Given the description of an element on the screen output the (x, y) to click on. 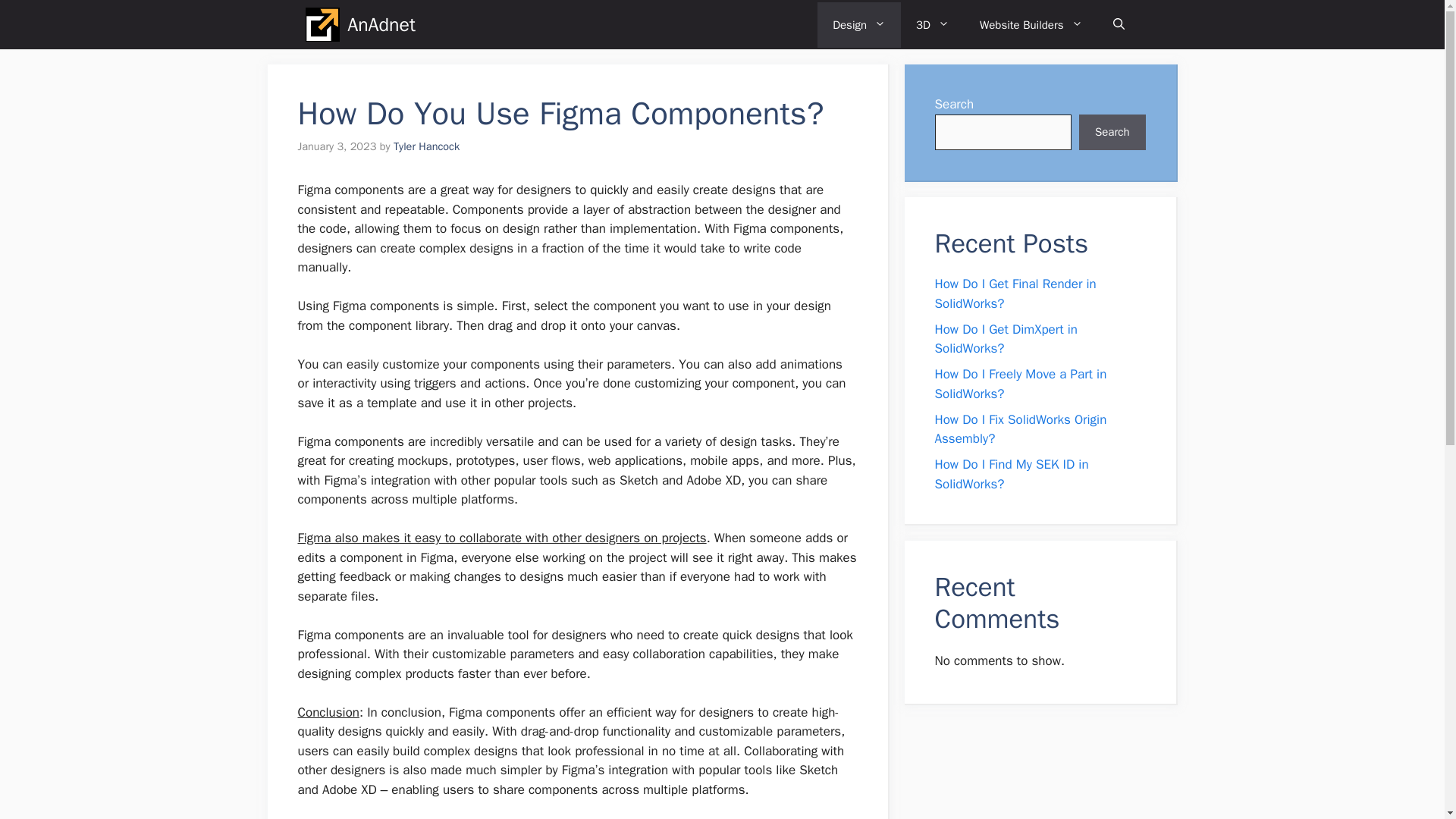
How Do I Freely Move a Part in SolidWorks? (1020, 384)
How Do I Get DimXpert in SolidWorks? (1005, 339)
Tyler Hancock (426, 146)
How Do I Get Final Render in SolidWorks? (1015, 294)
How Do I Fix SolidWorks Origin Assembly? (1020, 428)
AnAdnet (380, 24)
View all posts by Tyler Hancock (426, 146)
Search (1111, 131)
Design (858, 23)
3D (932, 23)
